Given the description of an element on the screen output the (x, y) to click on. 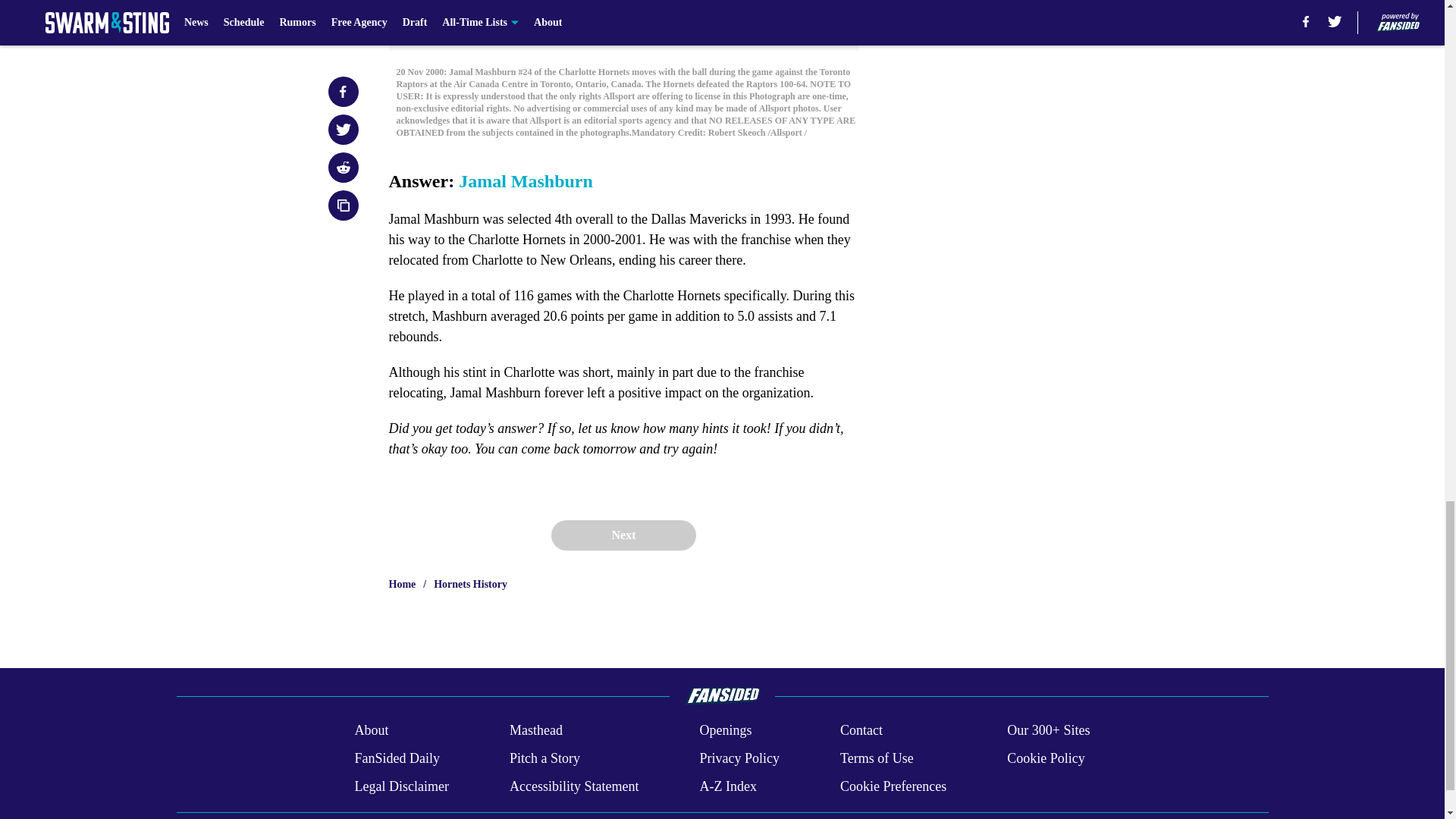
Contact (861, 730)
Home (401, 584)
Jamal Mashburn (525, 180)
Hornets History (469, 584)
About (370, 730)
FanSided Daily (396, 758)
Legal Disclaimer (400, 786)
Masthead (535, 730)
Terms of Use (877, 758)
Openings (724, 730)
Pitch a Story (544, 758)
Next (622, 535)
Cookie Policy (1045, 758)
Privacy Policy (738, 758)
